Given the description of an element on the screen output the (x, y) to click on. 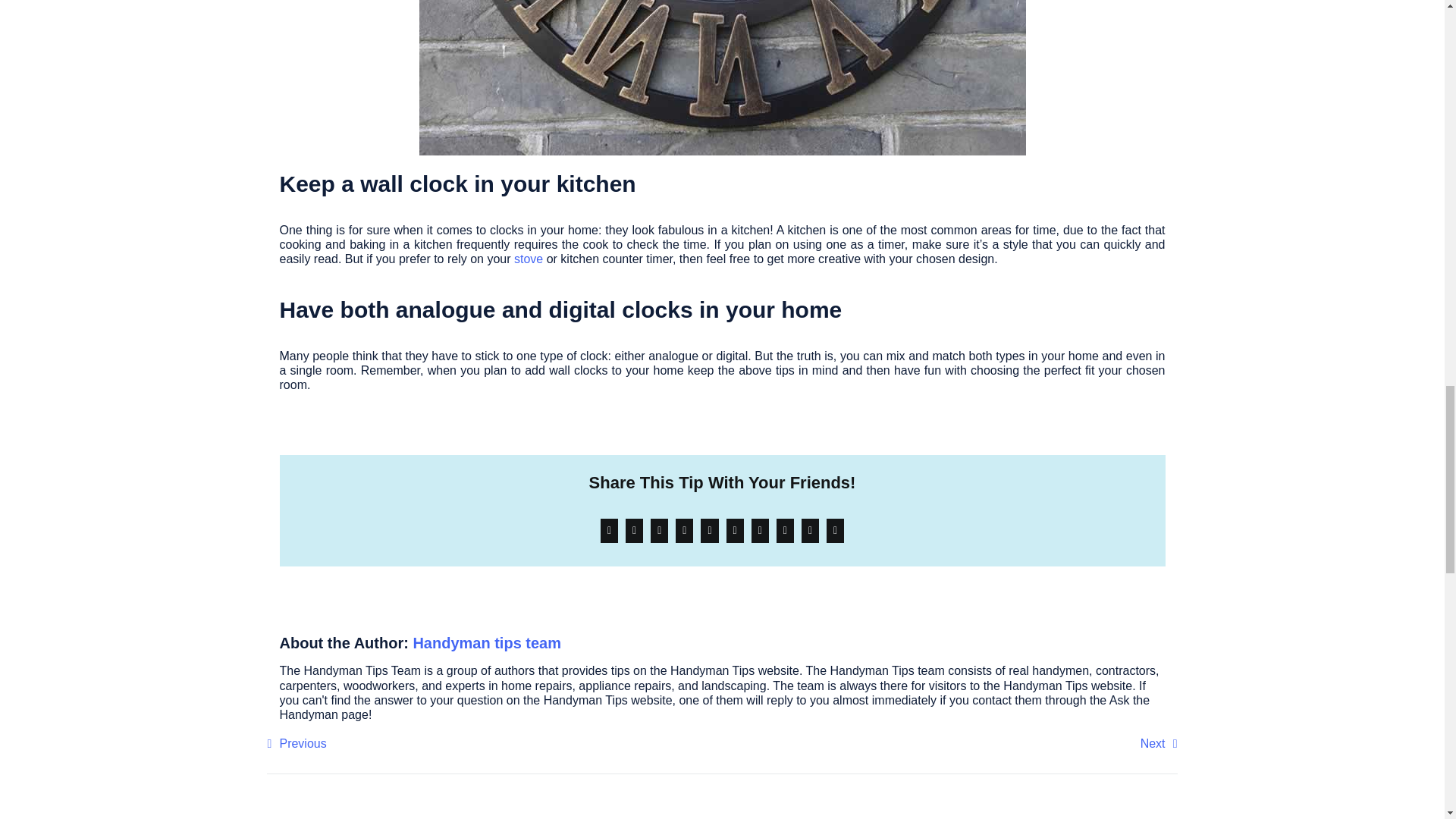
Handyman tips team (486, 642)
Previous (296, 744)
stove (528, 258)
Next (1158, 744)
